Given the description of an element on the screen output the (x, y) to click on. 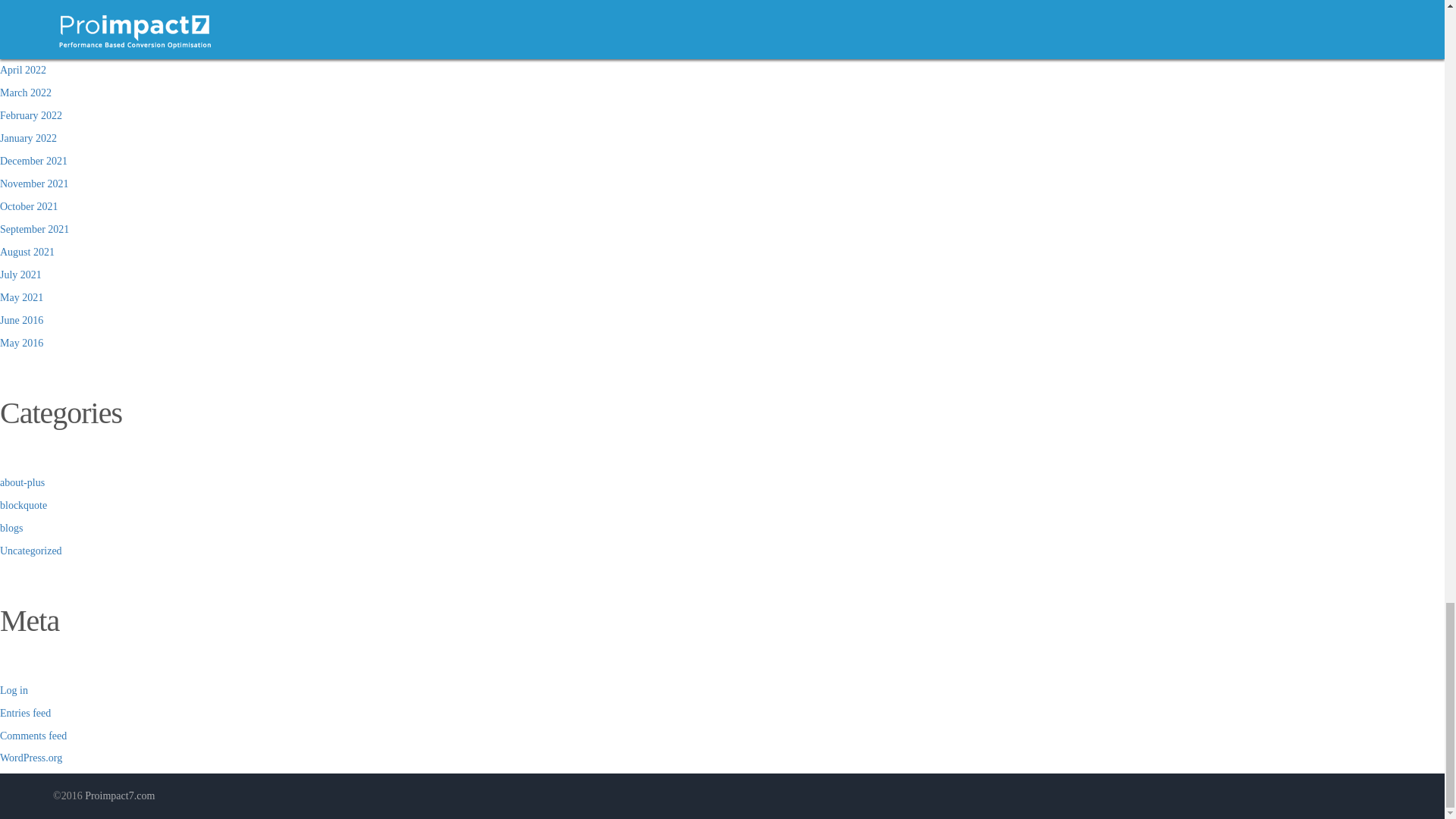
July 2022 (21, 3)
May 2022 (21, 47)
June 2022 (21, 24)
